Given the description of an element on the screen output the (x, y) to click on. 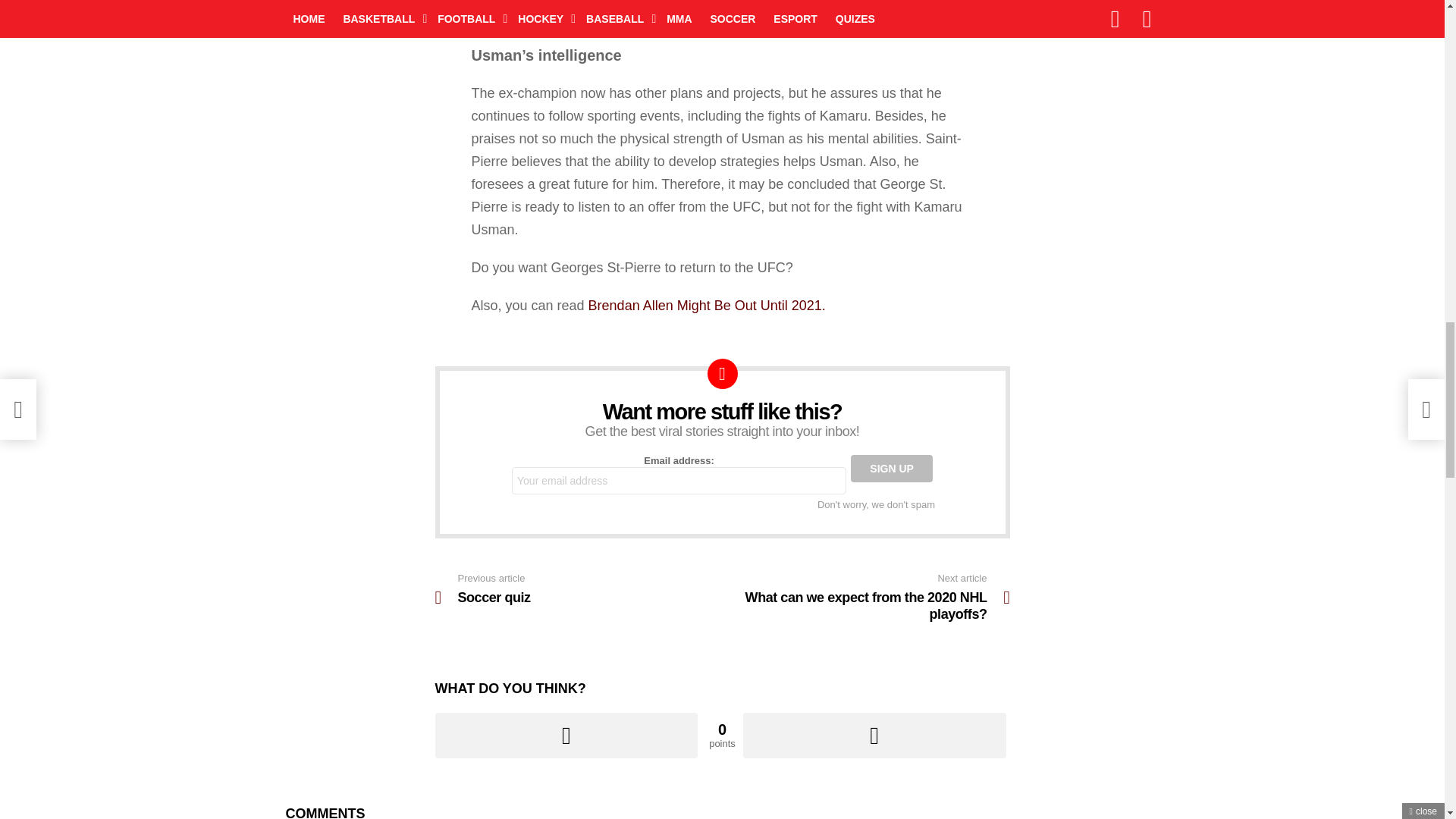
Downvote (874, 735)
Upvote (865, 597)
Brendan Allen Might Be Out Until 2021. (566, 735)
Sign up (706, 305)
Upvote (891, 468)
Sign up (566, 735)
